Given the description of an element on the screen output the (x, y) to click on. 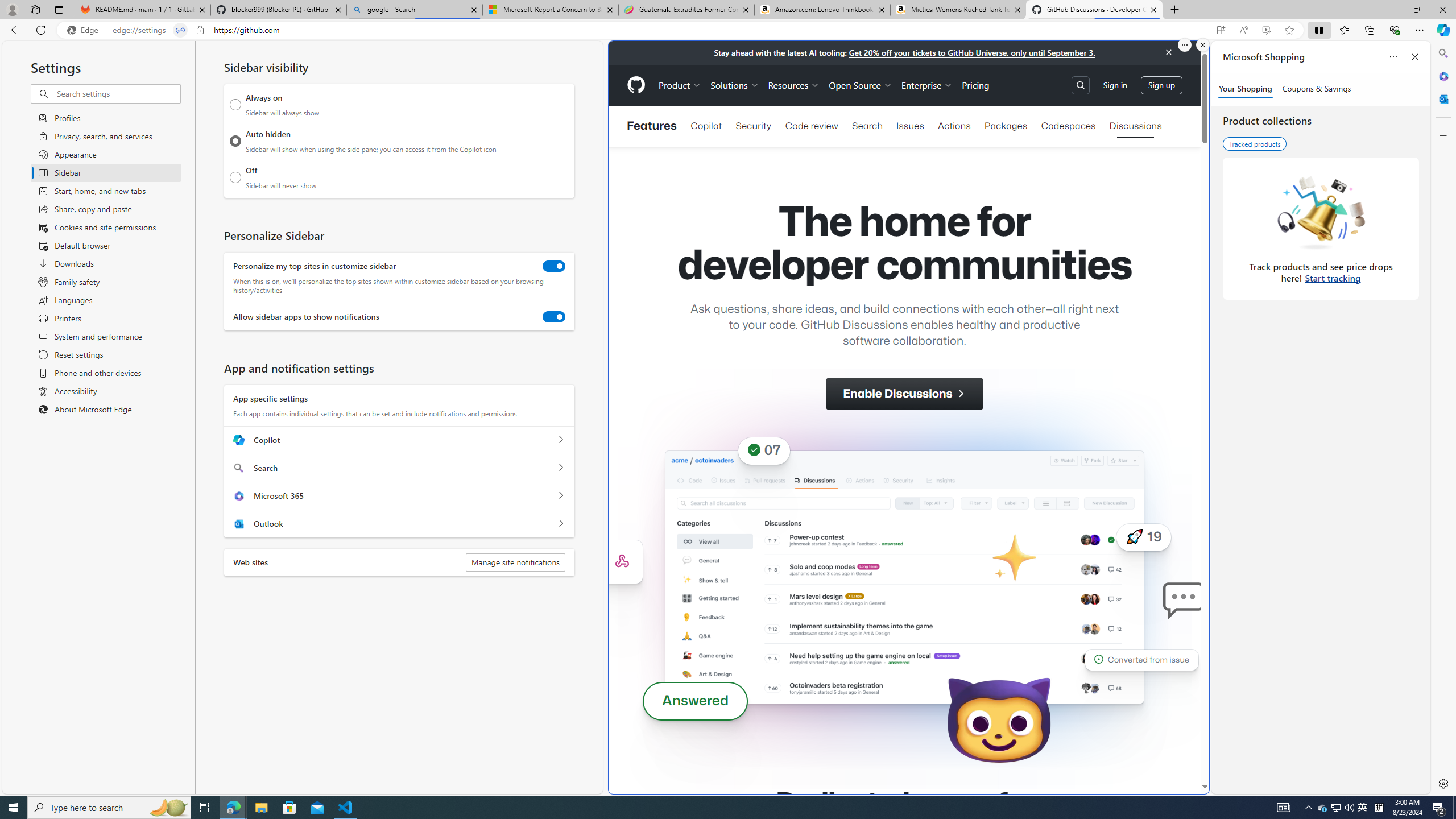
Pricing (975, 84)
